Given the description of an element on the screen output the (x, y) to click on. 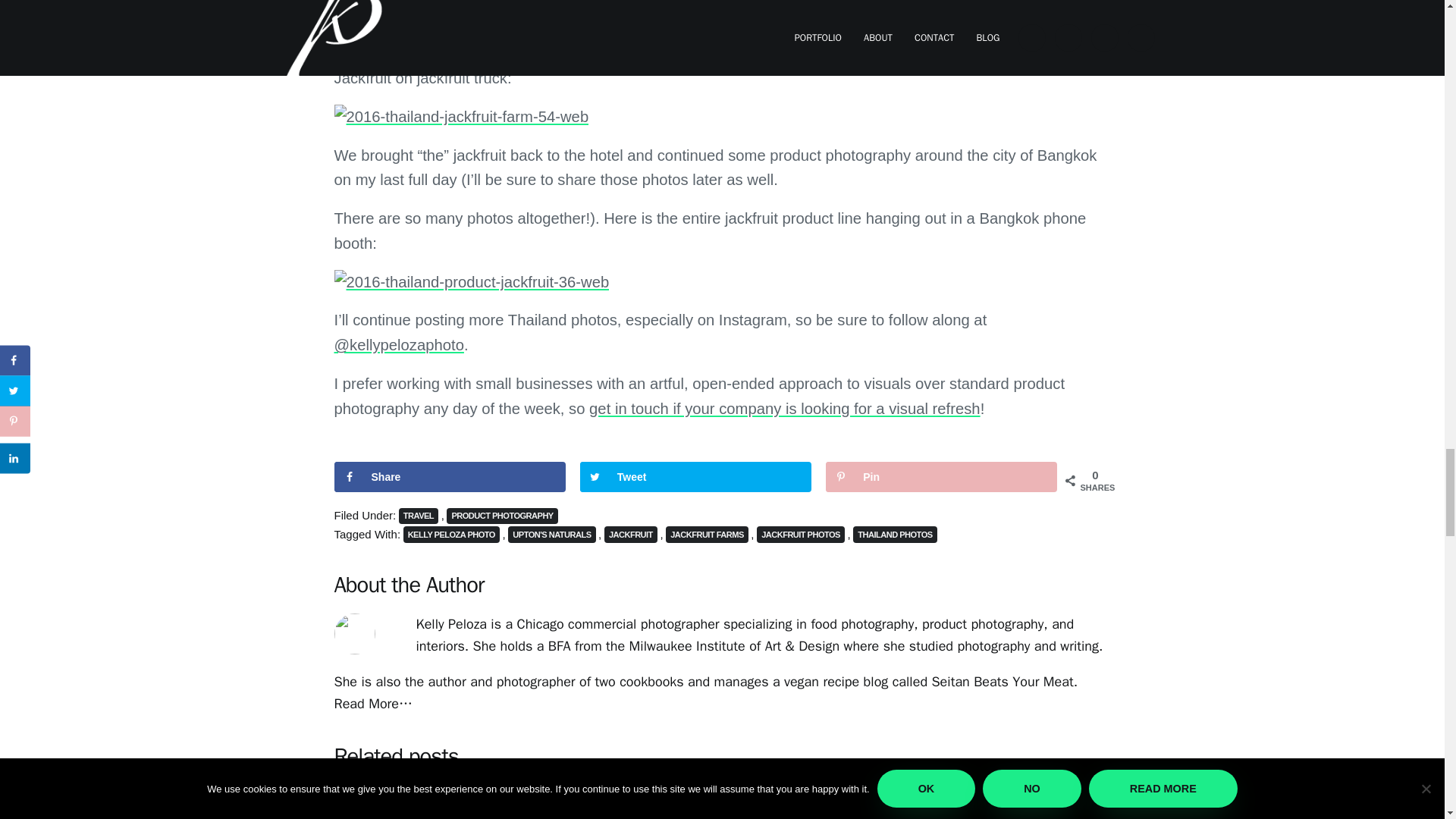
Save to Pinterest (941, 476)
Permanent Link to Selects from Thailand (403, 808)
Permanent Link to Bangkok: Day (721, 808)
Share on Twitter (694, 476)
Share on Facebook (448, 476)
